Given the description of an element on the screen output the (x, y) to click on. 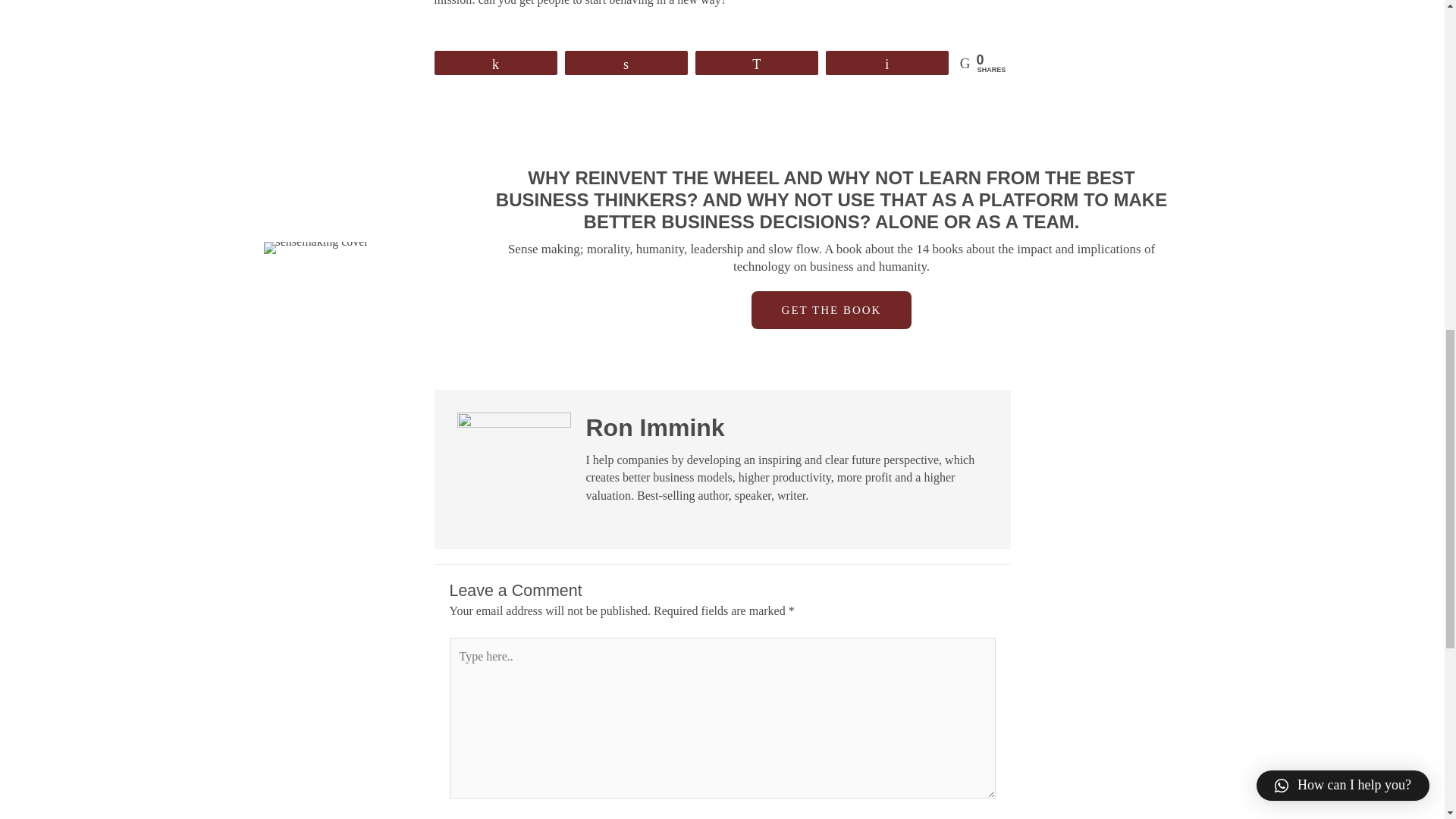
GET THE BOOK (831, 310)
sensemaking cover (315, 247)
